Given the description of an element on the screen output the (x, y) to click on. 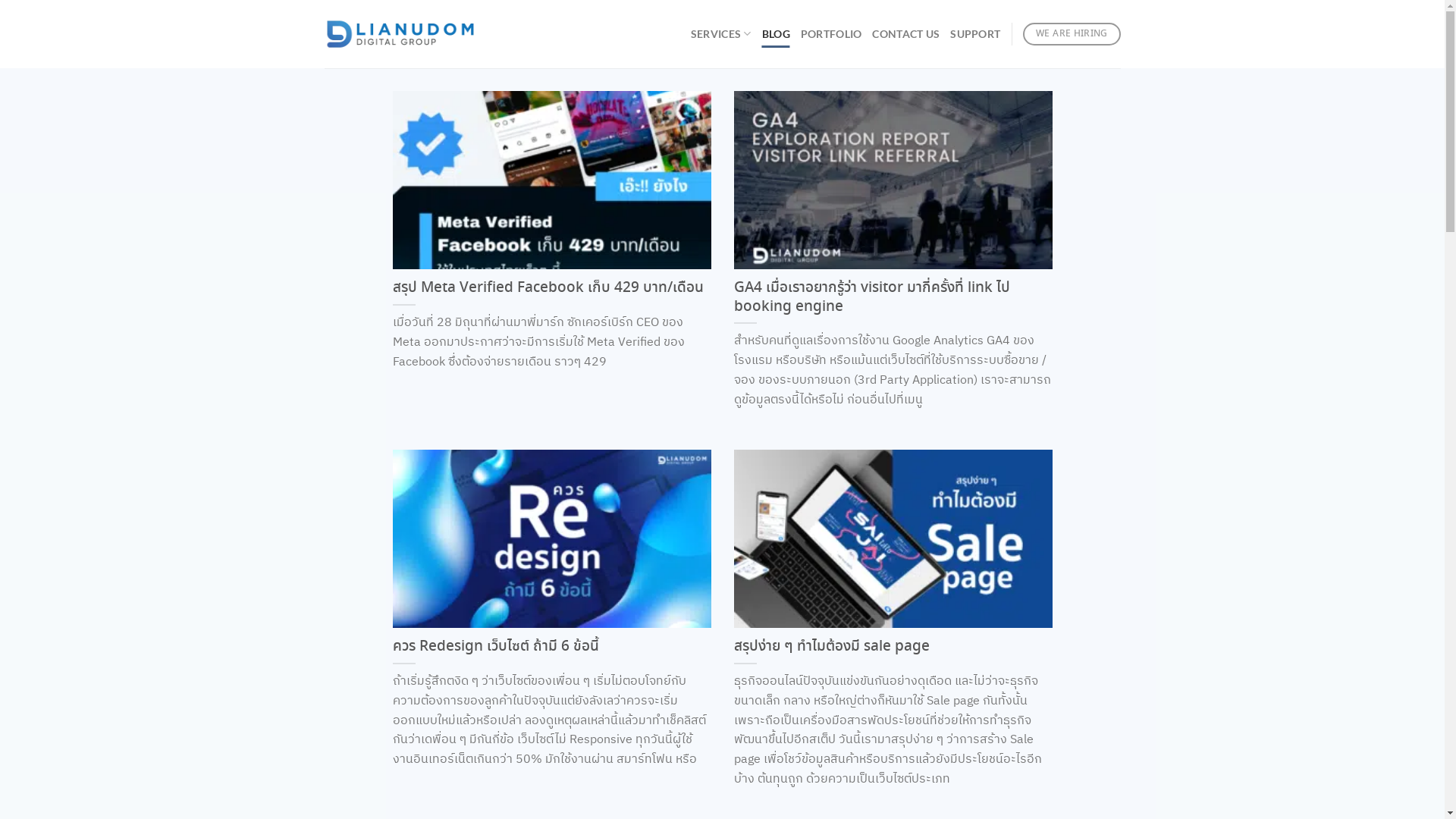
SUPPORT Element type: text (975, 33)
PORTFOLIO Element type: text (831, 33)
WE ARE HIRING Element type: text (1071, 34)
SERVICES Element type: text (720, 33)
BLOG Element type: text (776, 33)
CONTACT US Element type: text (905, 33)
